Given the description of an element on the screen output the (x, y) to click on. 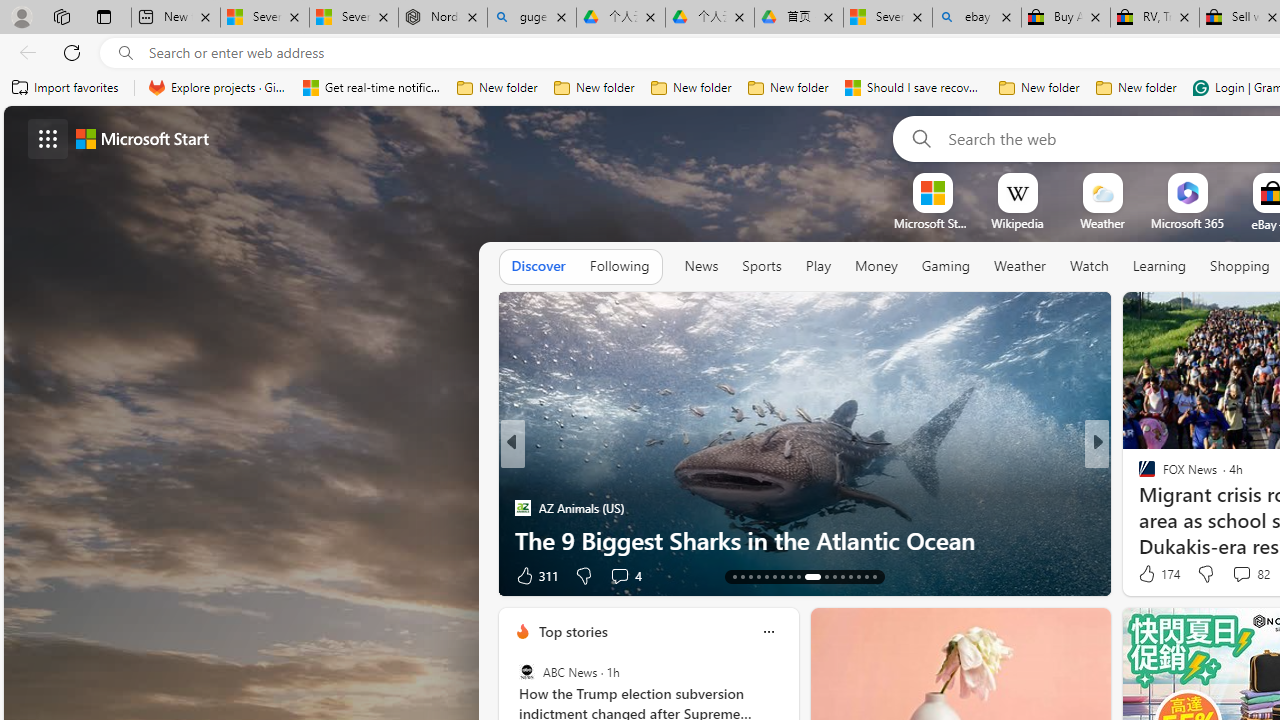
Buy Auto Parts & Accessories | eBay (1065, 17)
Start the conversation (1212, 574)
Microsoft 365 (1186, 223)
AutomationID: tab-24 (833, 576)
Following (619, 265)
AZ Animals (US) (522, 507)
News (701, 265)
AutomationID: tab-20 (789, 576)
Play (818, 267)
AutomationID: waffle (47, 138)
Like (1140, 574)
174 Like (1157, 574)
Sports (761, 267)
